Given the description of an element on the screen output the (x, y) to click on. 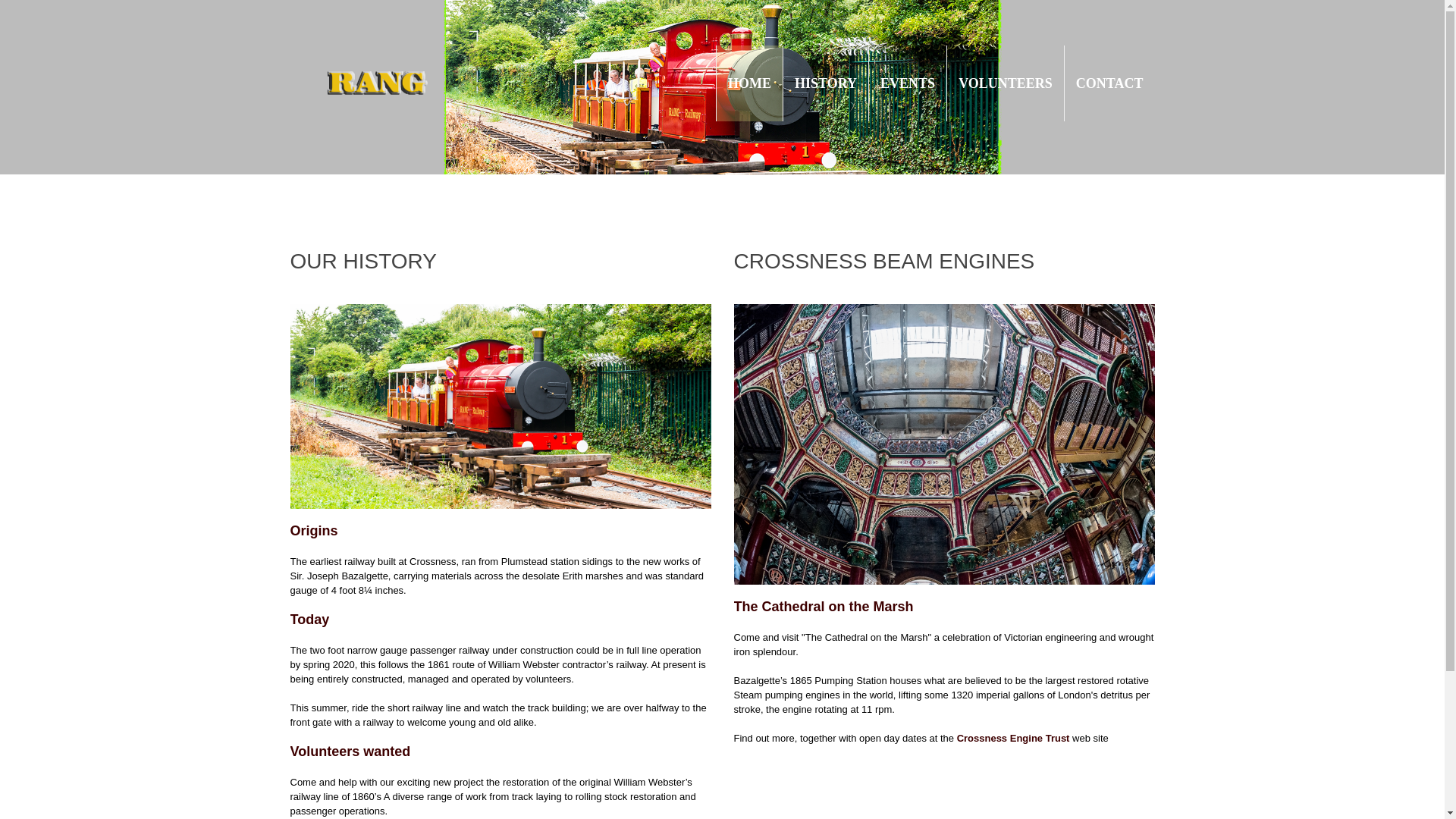
HISTORY (825, 83)
RANG (414, 81)
EVENTS (907, 83)
VOLUNTEERS (1005, 83)
HOME (749, 83)
about us (499, 406)
CONTACT (1108, 83)
Crossness Engine Trust (1013, 737)
company (943, 443)
